Given the description of an element on the screen output the (x, y) to click on. 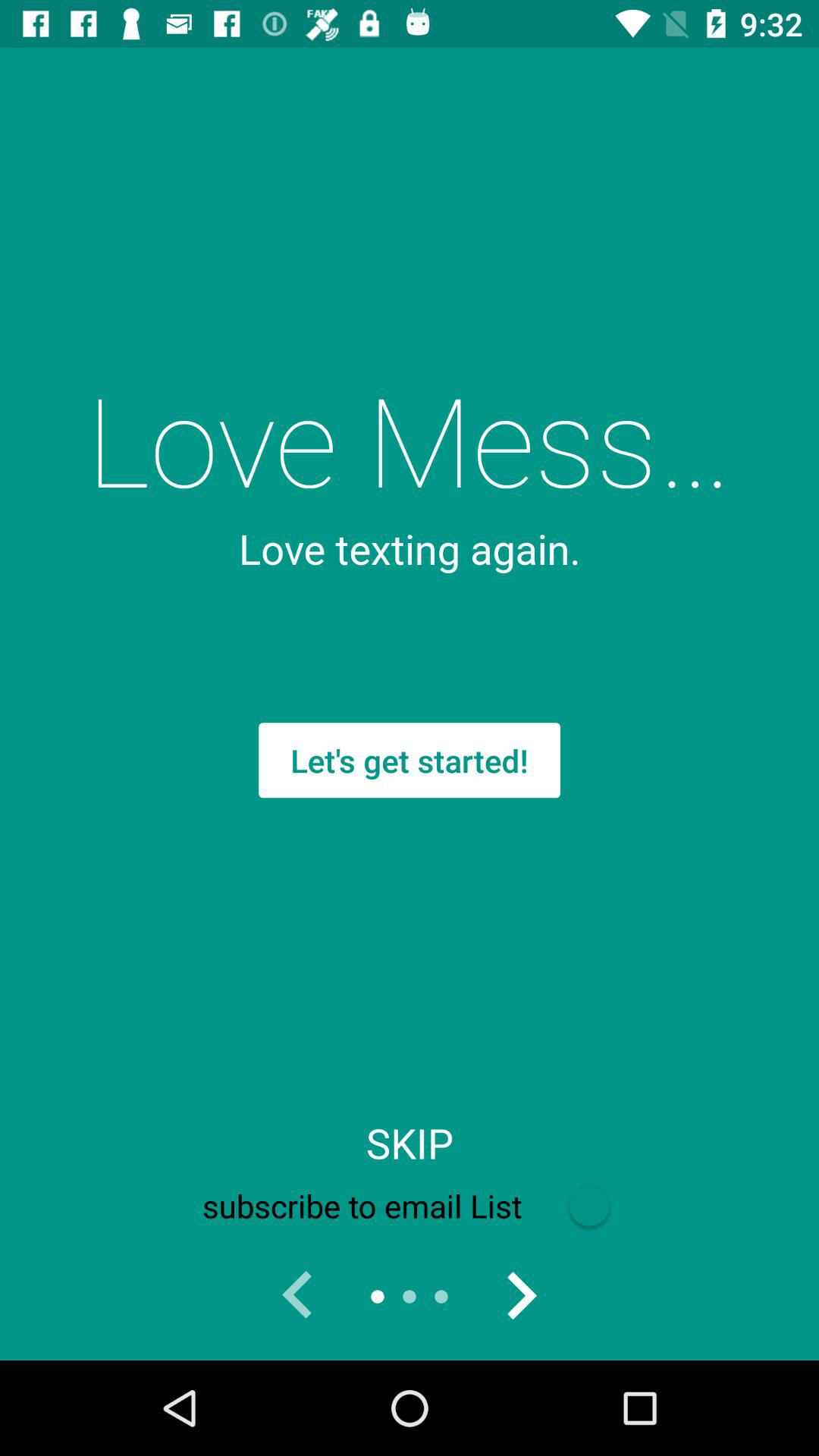
turn off icon below skip icon (409, 1206)
